Given the description of an element on the screen output the (x, y) to click on. 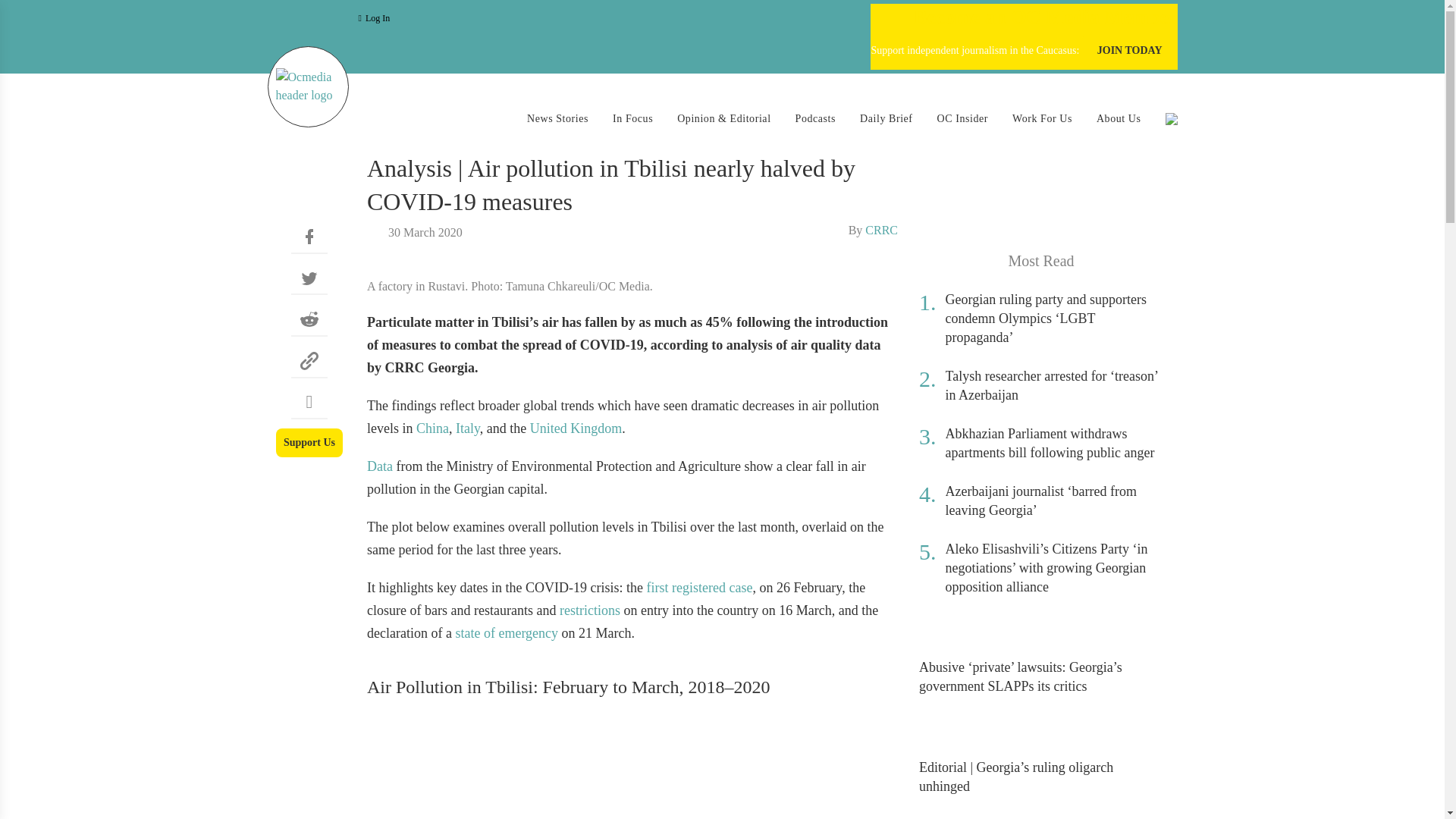
In Focus (632, 118)
OC Insider (962, 118)
Work For Us (1041, 118)
Podcasts (814, 118)
Daily Brief (886, 118)
News Stories (557, 118)
JOIN TODAY (1129, 51)
About Us (1118, 118)
